Given the description of an element on the screen output the (x, y) to click on. 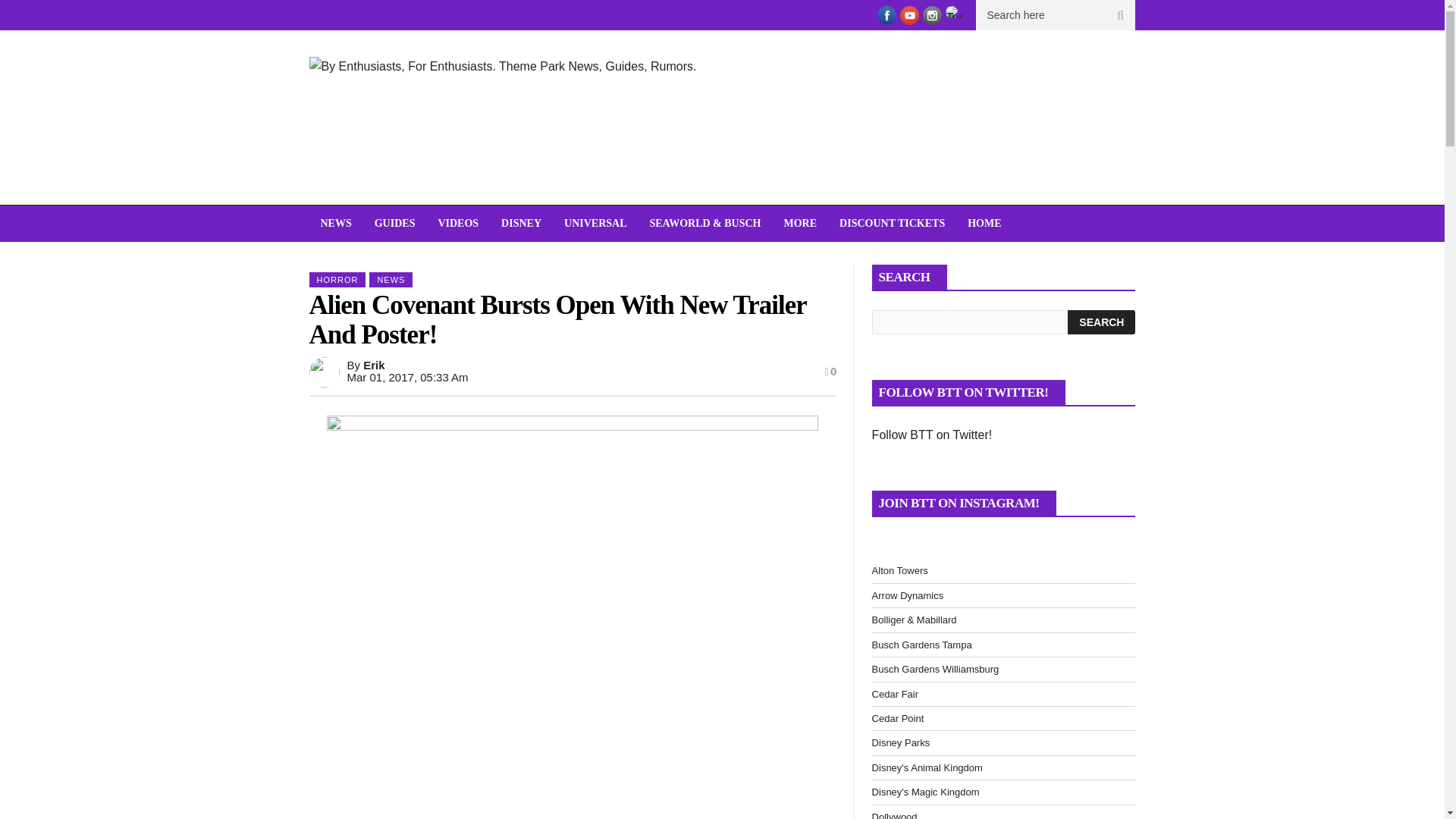
UNIVERSAL (595, 223)
GUIDES (394, 223)
Posts by Erik (373, 364)
NEWS (335, 223)
HOME (983, 223)
MORE (800, 223)
Search (1101, 322)
VIDEOS (457, 223)
DISNEY (521, 223)
DISCOUNT TICKETS (892, 223)
